Given the description of an element on the screen output the (x, y) to click on. 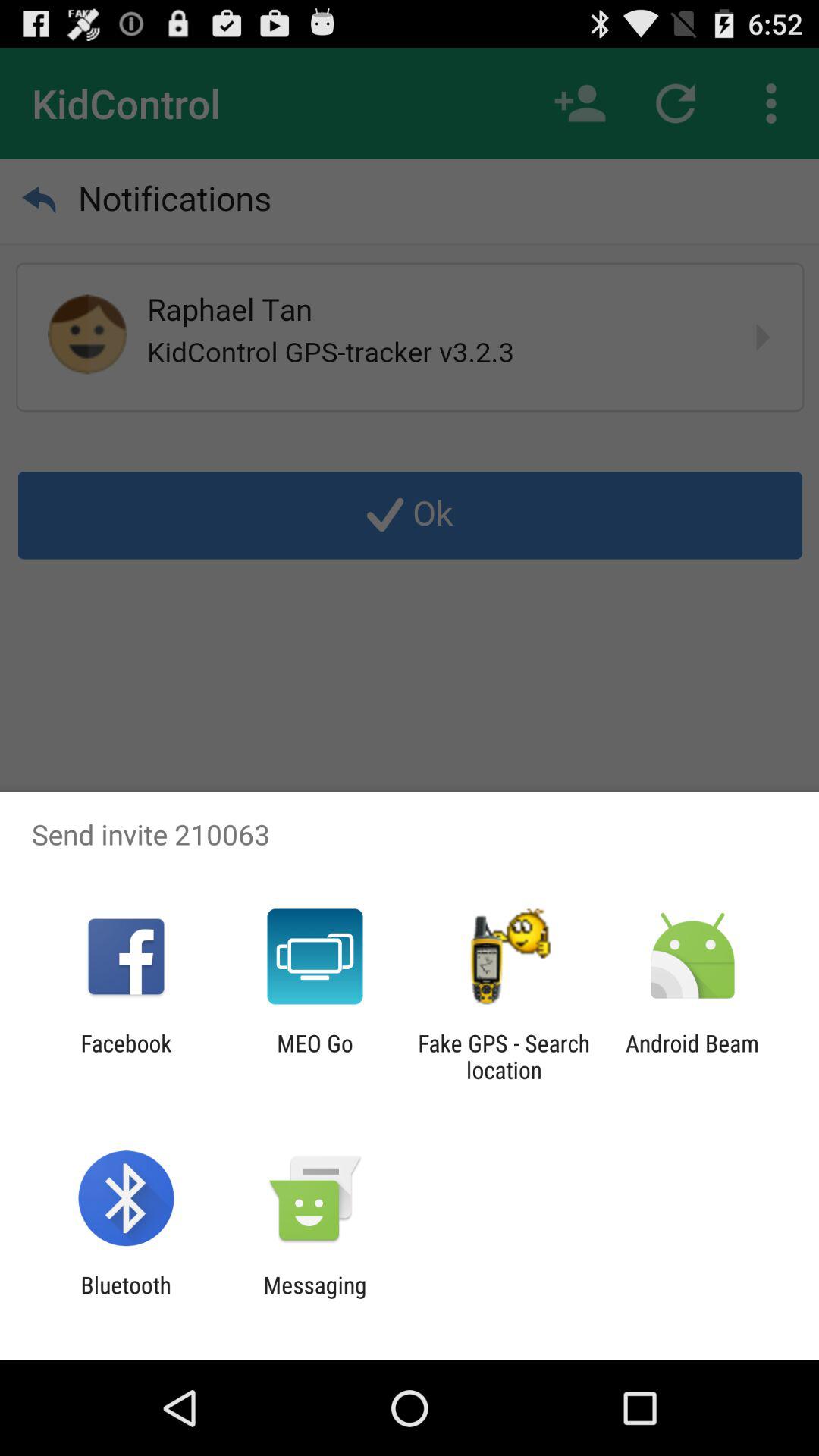
launch icon next to the messaging app (125, 1298)
